Given the description of an element on the screen output the (x, y) to click on. 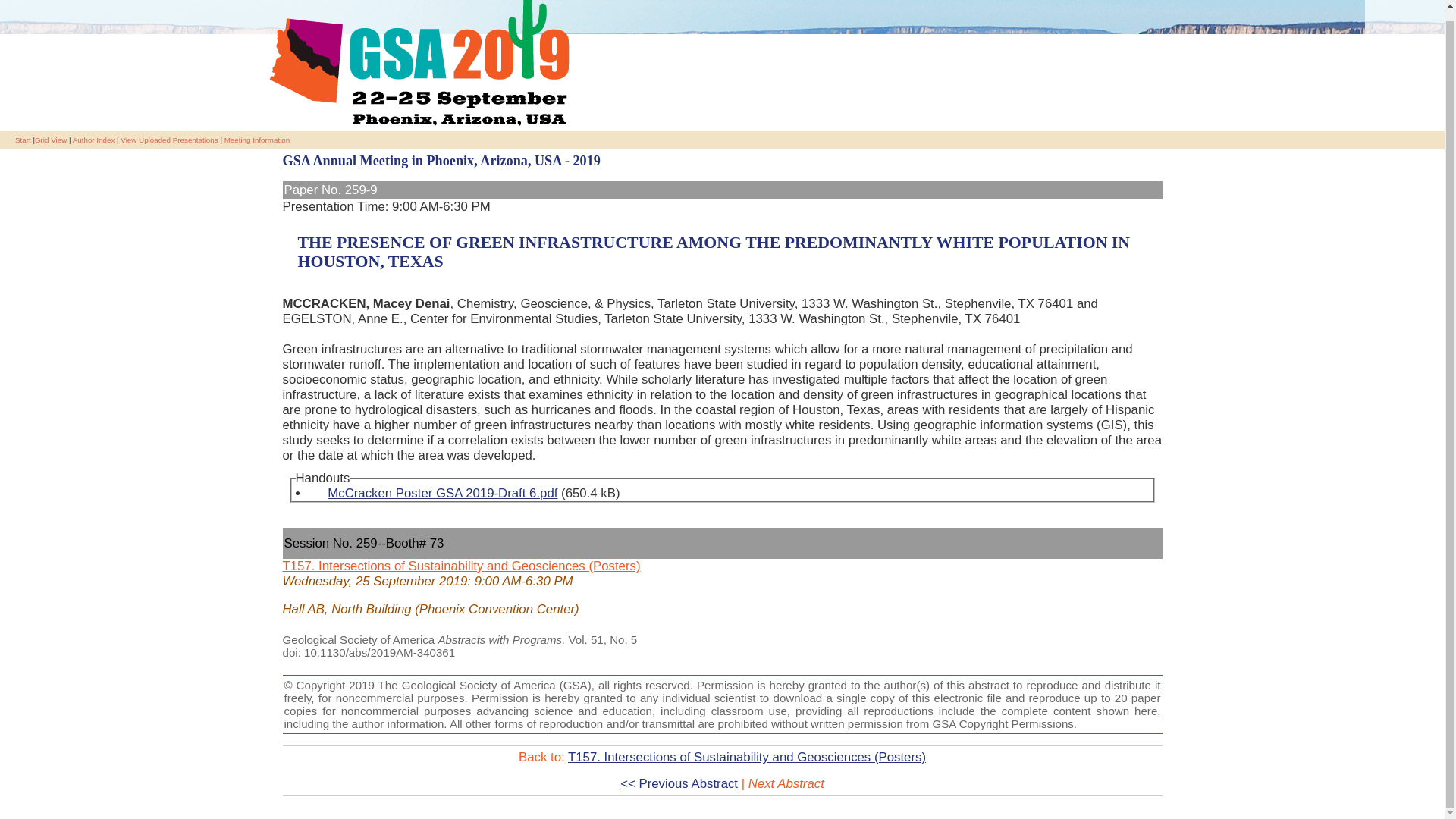
View Uploaded Presentations (168, 139)
Author Index (93, 139)
Meeting Information (256, 139)
McCracken Poster GSA 2019-Draft 6.pdf (435, 500)
Start (22, 139)
Grid View (50, 139)
